Given the description of an element on the screen output the (x, y) to click on. 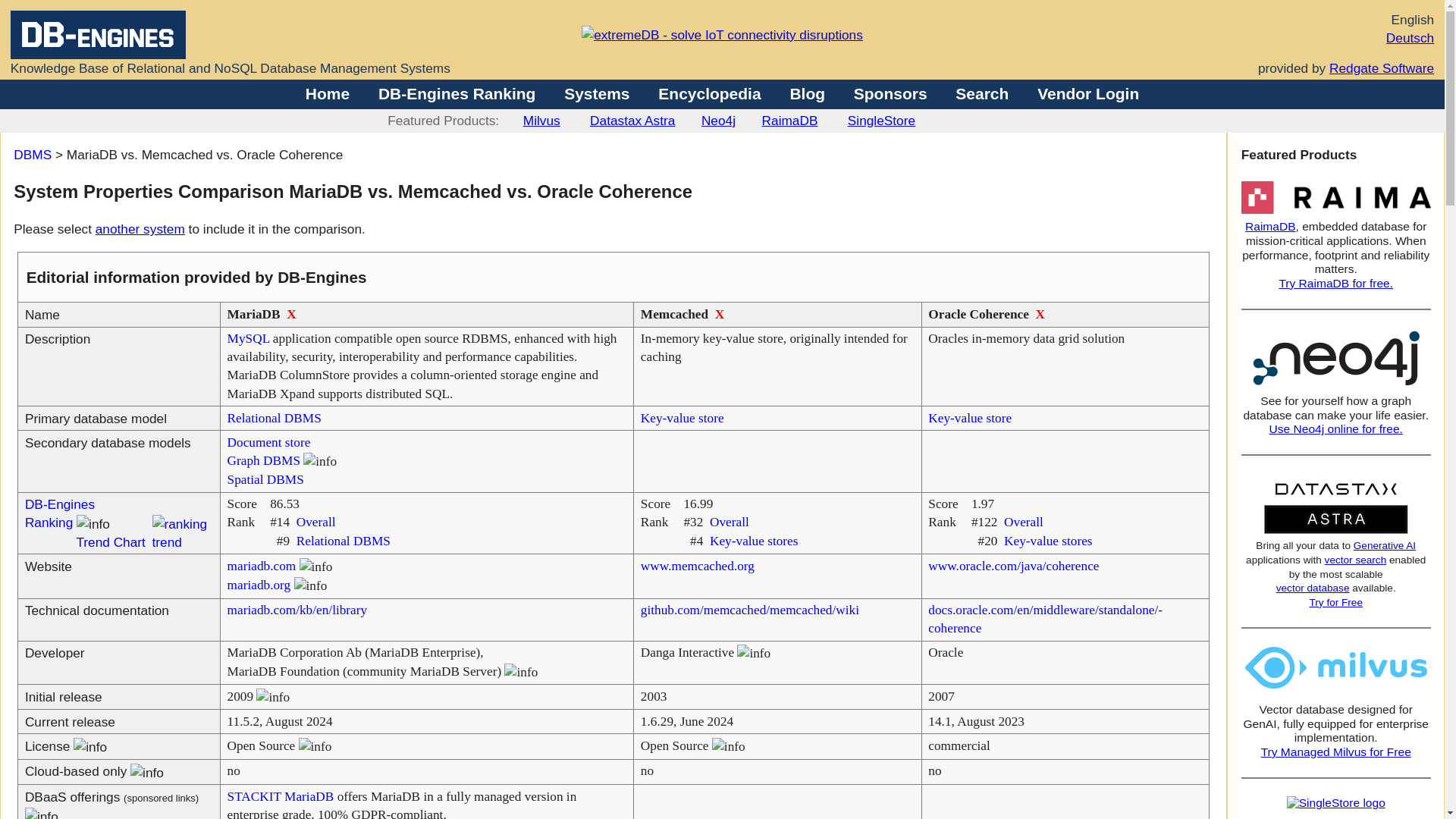
Redgate Software (1381, 68)
DB-Engines Ranking (59, 512)
Home (327, 93)
Document store (269, 441)
Neo4j (718, 120)
Trend Chart (109, 541)
Relational DBMS (343, 540)
Overall (316, 522)
Deutsch (1410, 37)
mariadb.org (259, 585)
